Given the description of an element on the screen output the (x, y) to click on. 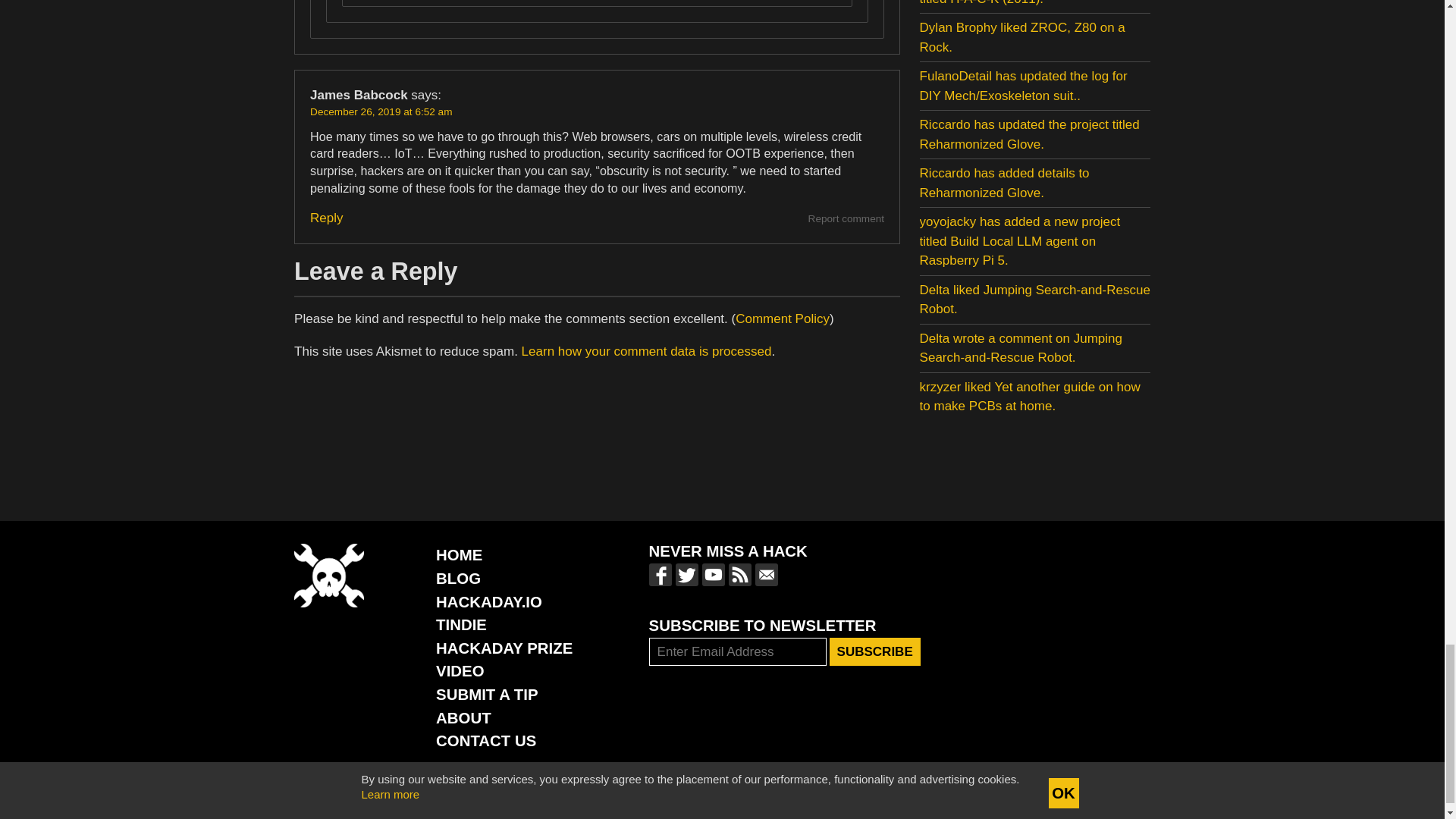
Subscribe (874, 652)
